Given the description of an element on the screen output the (x, y) to click on. 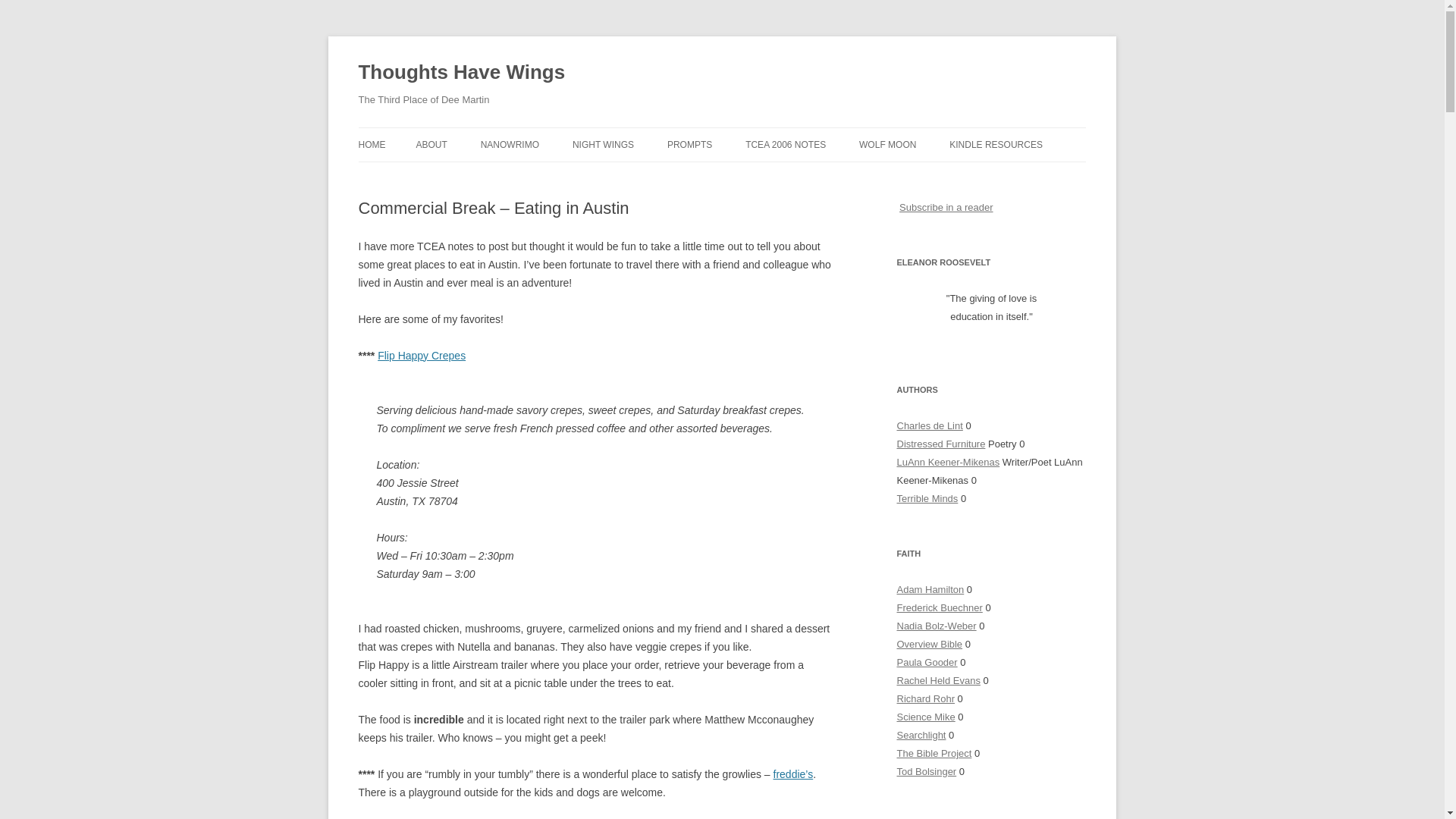
WOLF MOON (887, 144)
Subscribe in a reader (945, 206)
Thoughts Have Wings (461, 72)
NIGHT WINGS (602, 144)
NANOWRIMO (509, 144)
Terrible Minds (927, 498)
Adam Hamilton (929, 589)
Flip Happy Crepes (421, 355)
Frederick Buechner (938, 607)
Distressed Furniture (940, 443)
Thoughts Have Wings (461, 72)
PROMPTS (688, 144)
Charles de Lint (929, 425)
LuAnn Keener-Mikenas (947, 461)
